Given the description of an element on the screen output the (x, y) to click on. 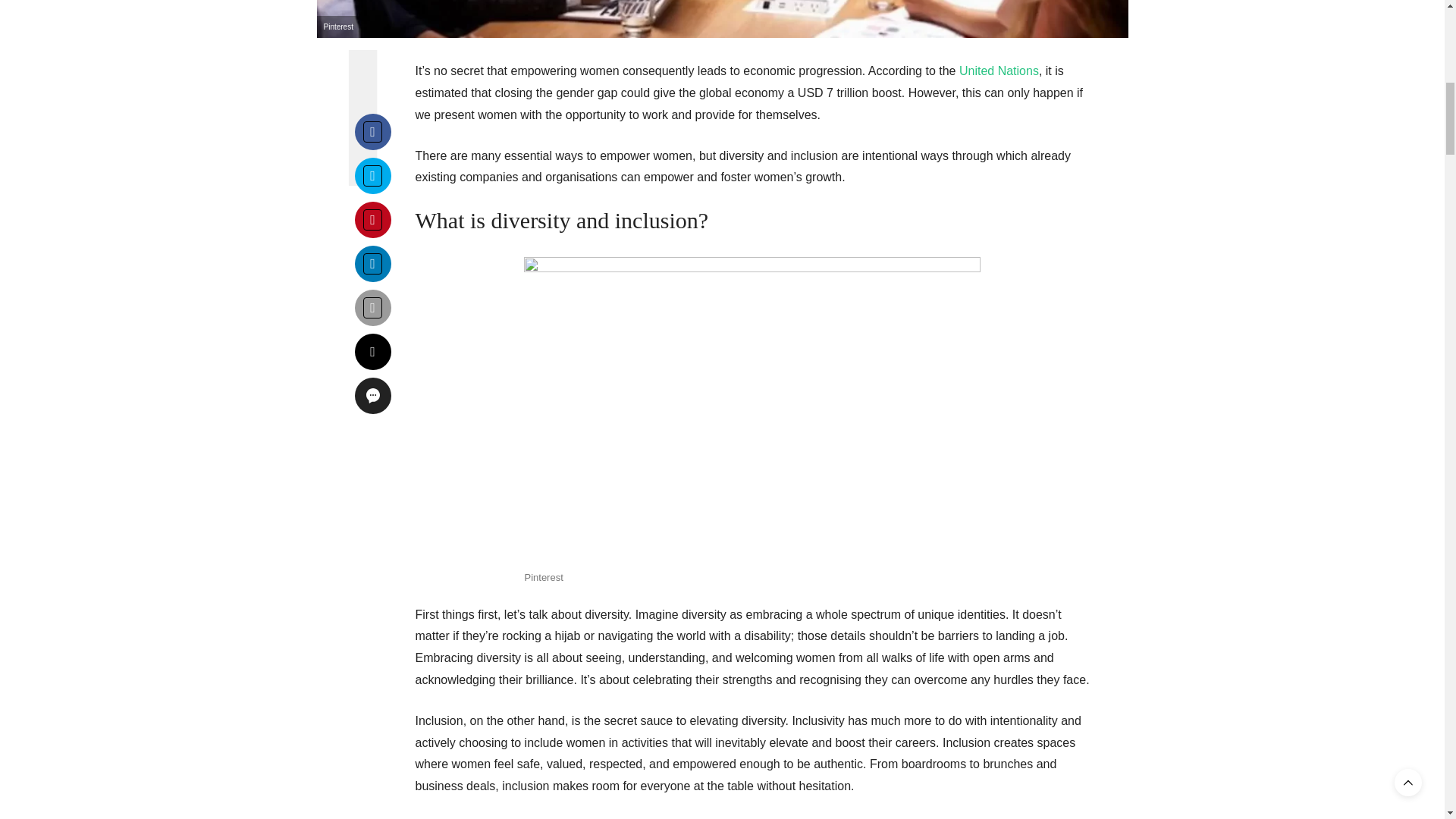
United Nations (999, 70)
